Given the description of an element on the screen output the (x, y) to click on. 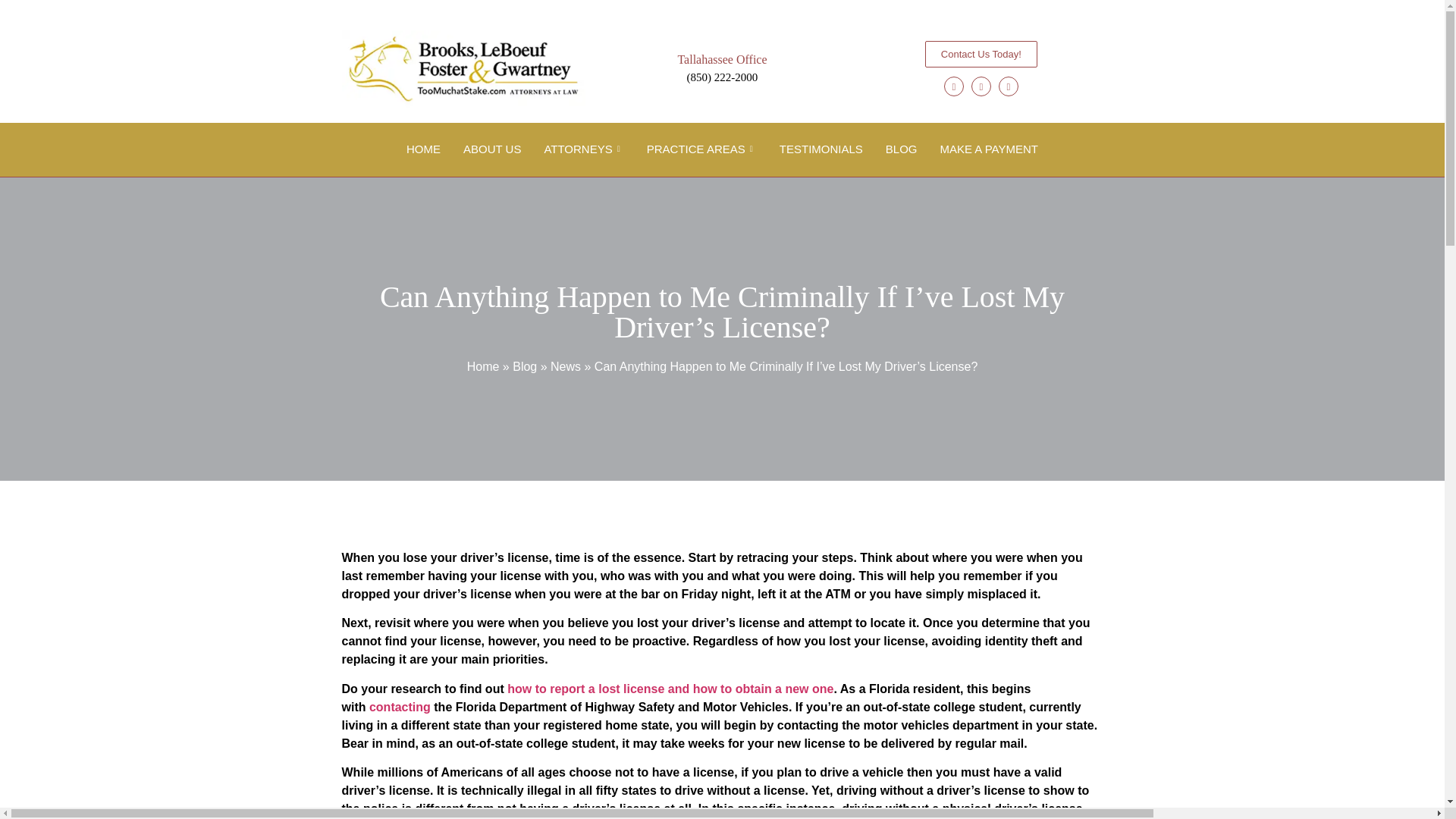
News (565, 366)
Contact Us Today! (980, 53)
Blog (524, 366)
Home (483, 366)
